Given the description of an element on the screen output the (x, y) to click on. 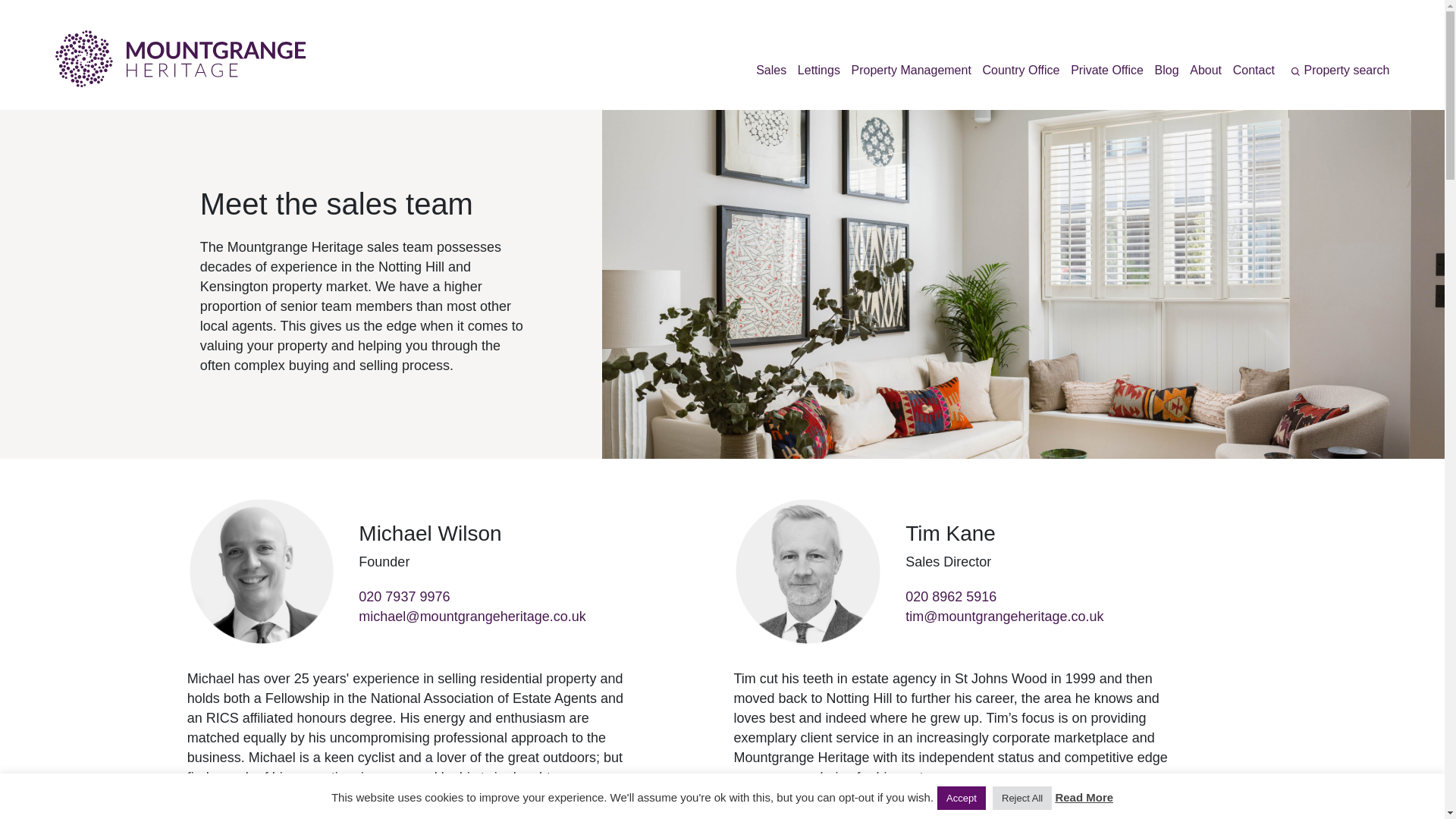
Lettings (813, 70)
Country Office (1015, 70)
Private Office (1100, 70)
Sales (765, 70)
Property Management (905, 70)
